Given the description of an element on the screen output the (x, y) to click on. 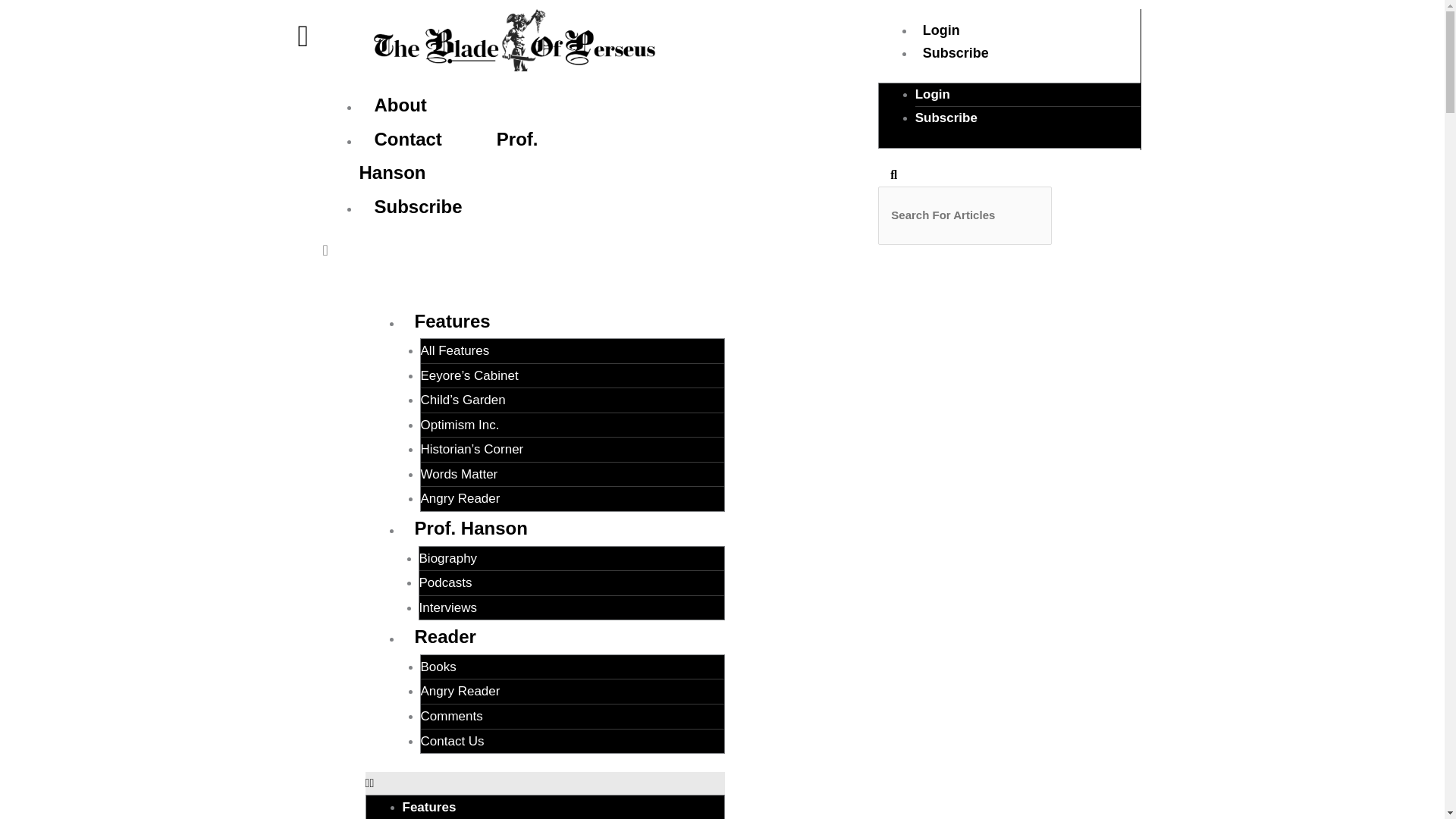
Subscribe (945, 117)
Login (941, 29)
Comments (451, 716)
Words Matter (458, 473)
All Features (454, 350)
Biography (448, 558)
Interviews (448, 607)
Features (430, 807)
Books (438, 667)
Angry Reader (460, 498)
